Given the description of an element on the screen output the (x, y) to click on. 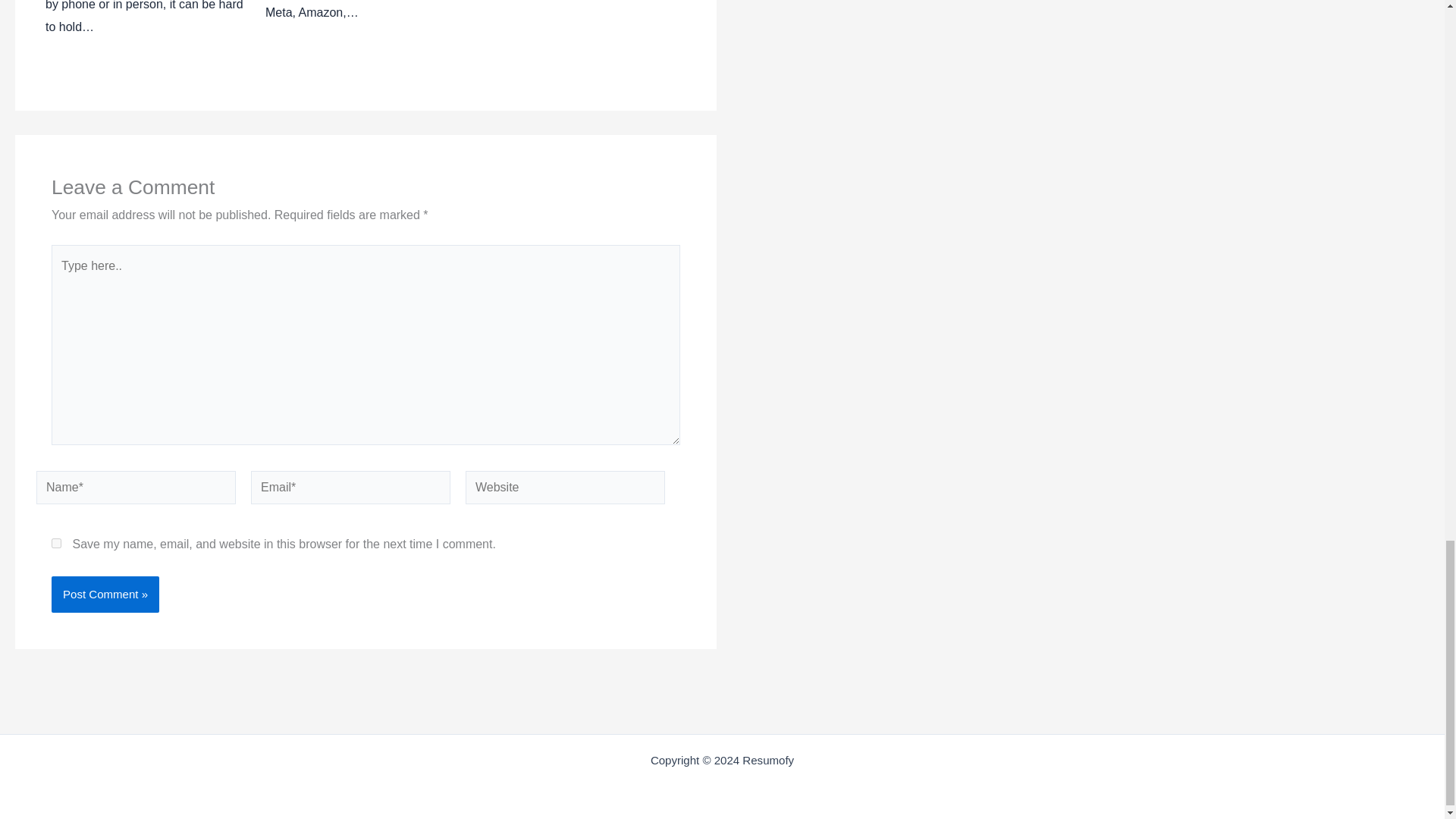
yes (55, 542)
